Given the description of an element on the screen output the (x, y) to click on. 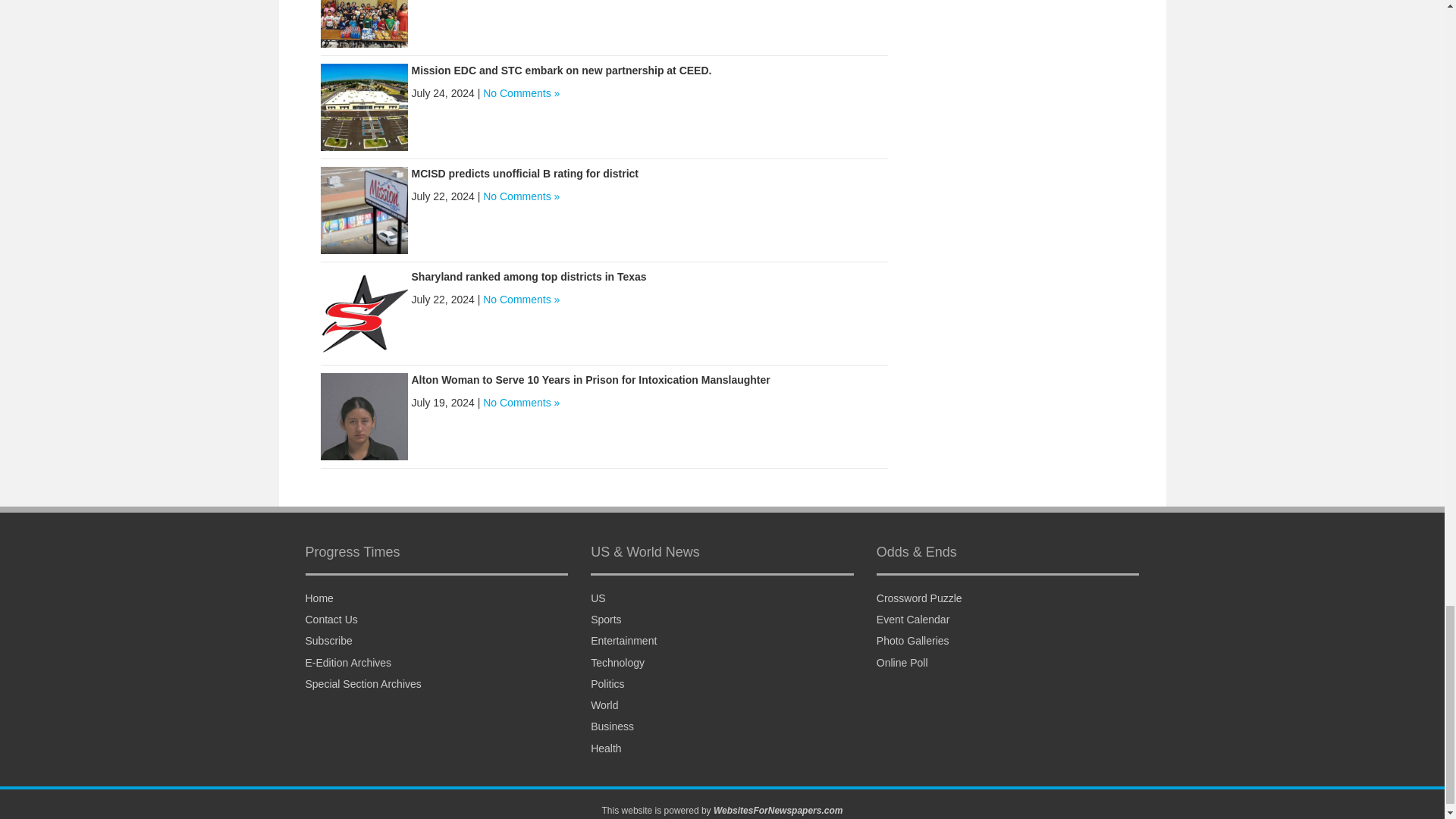
MCISD predicts unofficial B rating for district (363, 209)
Mission EDC and STC embark on new partnership at CEED. (560, 69)
United We Stand, Texas Healthy Snacks Initiative (363, 4)
Mission EDC and STC embark on new partnership at CEED. (363, 105)
MCISD predicts unofficial B rating for district (523, 173)
